Given the description of an element on the screen output the (x, y) to click on. 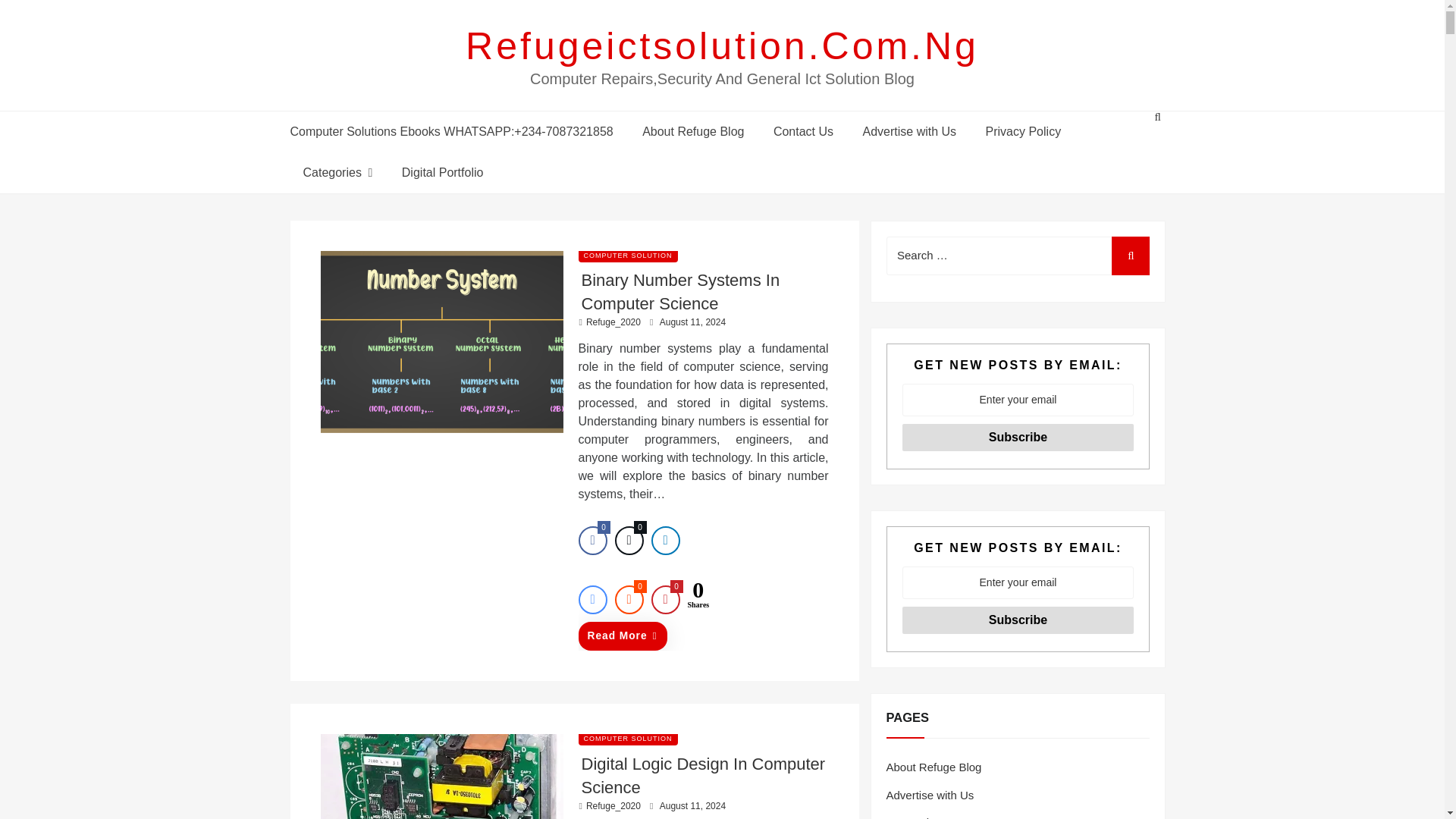
0 (628, 599)
Binary Number Systems In Computer Science (679, 291)
Digital Logic Design In Computer Science 2 (441, 776)
Digital Portfolio (440, 171)
0 (664, 599)
0 (592, 540)
Contact Us (802, 130)
Subscribe (1018, 619)
Privacy Policy (1023, 130)
Read More (622, 635)
